Given the description of an element on the screen output the (x, y) to click on. 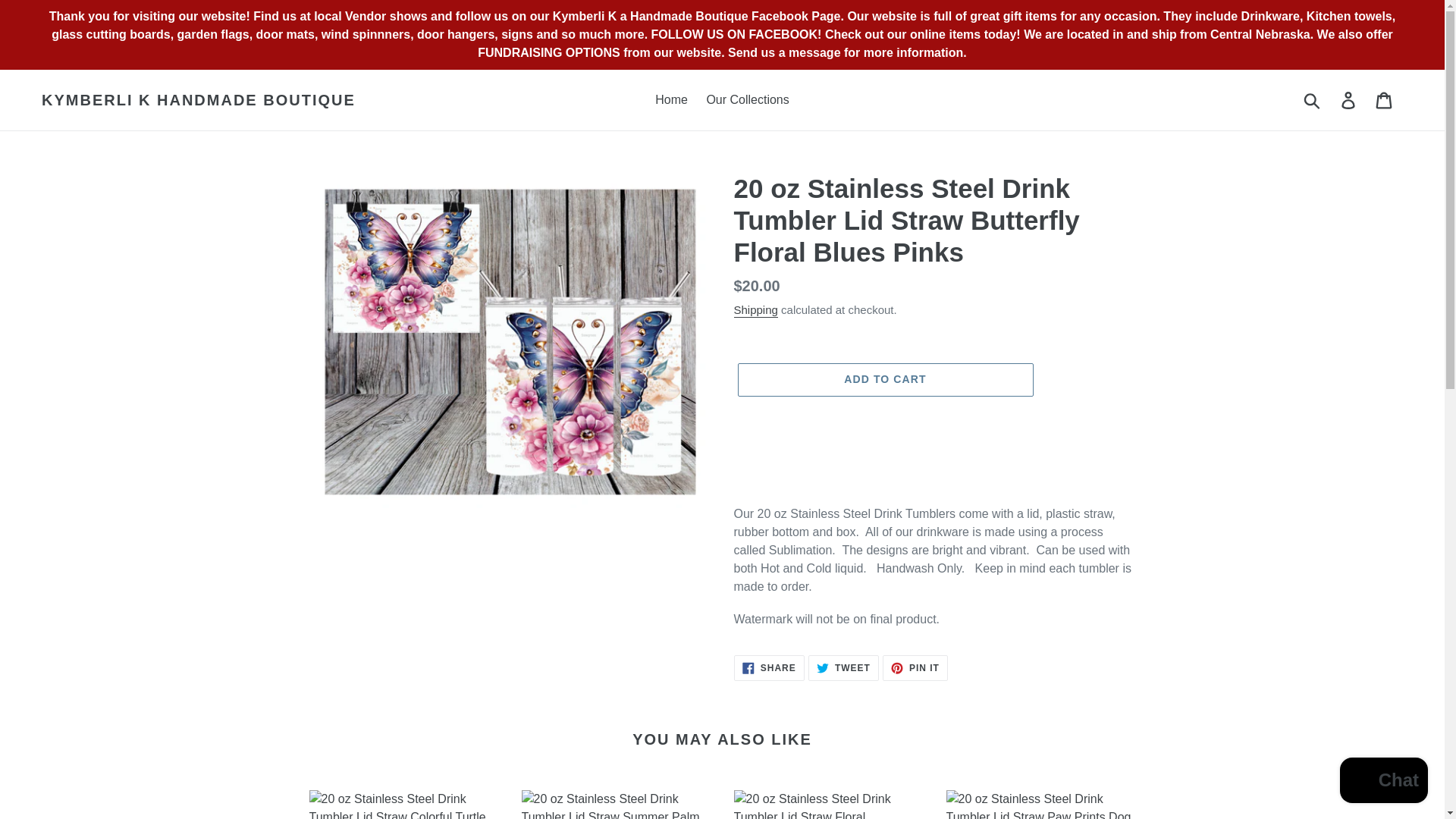
KYMBERLI K HANDMADE BOUTIQUE (198, 99)
Our Collections (747, 99)
Submit (1313, 100)
Shopify online store chat (843, 667)
Shipping (1383, 781)
Cart (755, 310)
